Given the description of an element on the screen output the (x, y) to click on. 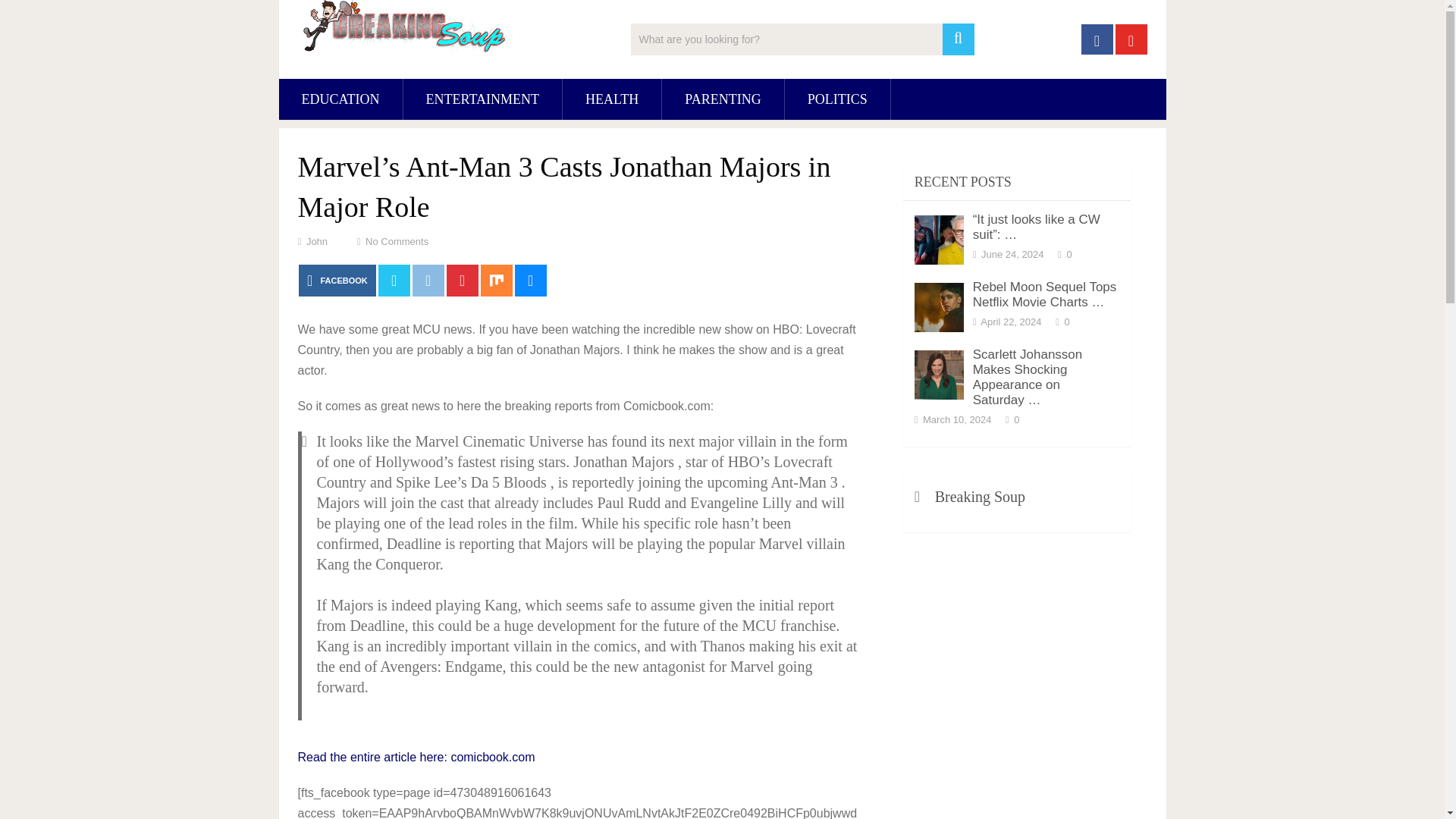
Posts by John (316, 241)
POLITICS (836, 98)
John (316, 241)
PARENTING (722, 98)
No Comments (396, 241)
Read the entire article here: comicbook.com (415, 757)
ENTERTAINMENT (482, 98)
FACEBOOK (336, 280)
HEALTH (611, 98)
EDUCATION (341, 98)
